Given the description of an element on the screen output the (x, y) to click on. 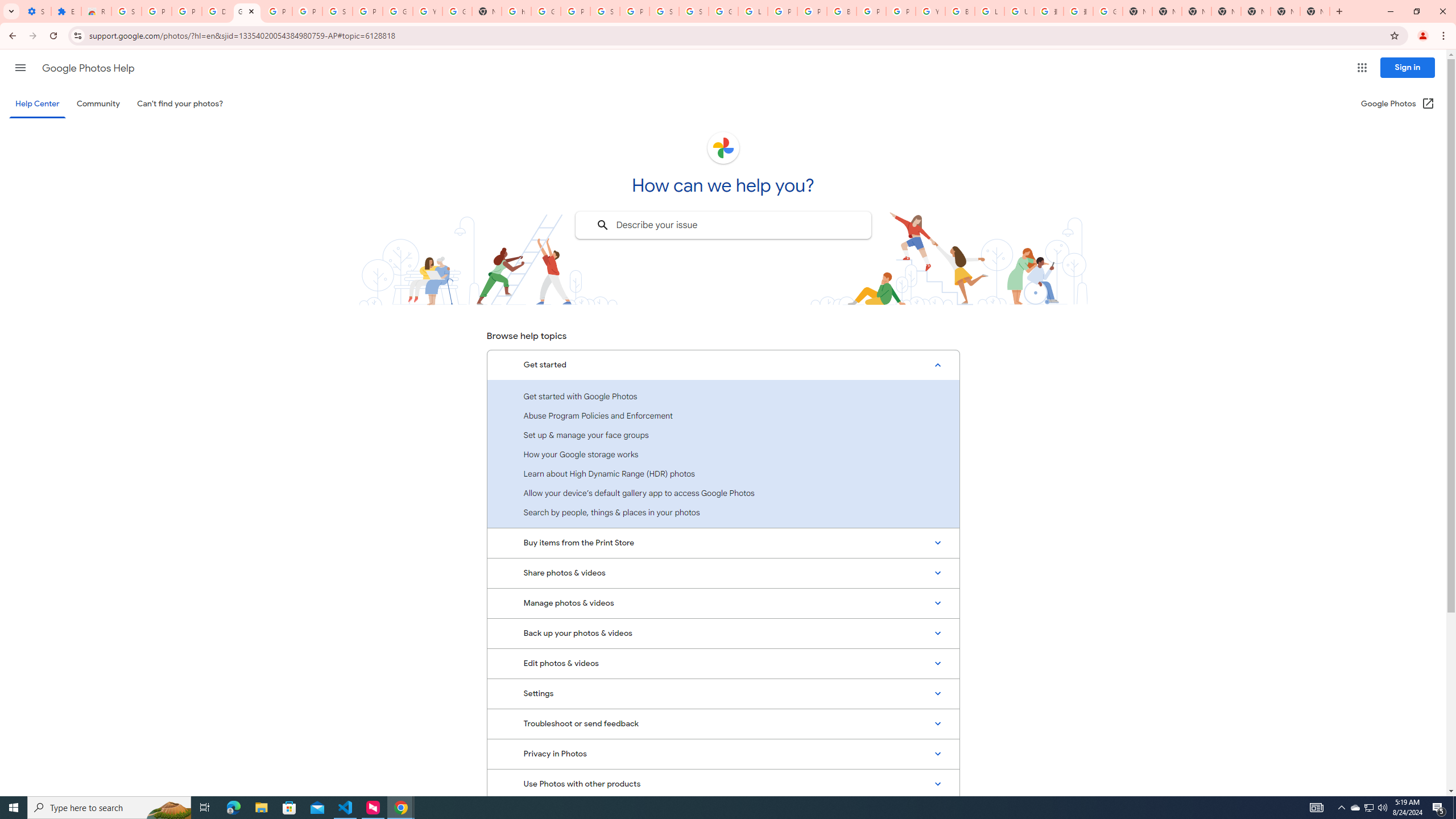
YouTube (930, 11)
Get started, Expanded list with 7 items (722, 365)
